Given the description of an element on the screen output the (x, y) to click on. 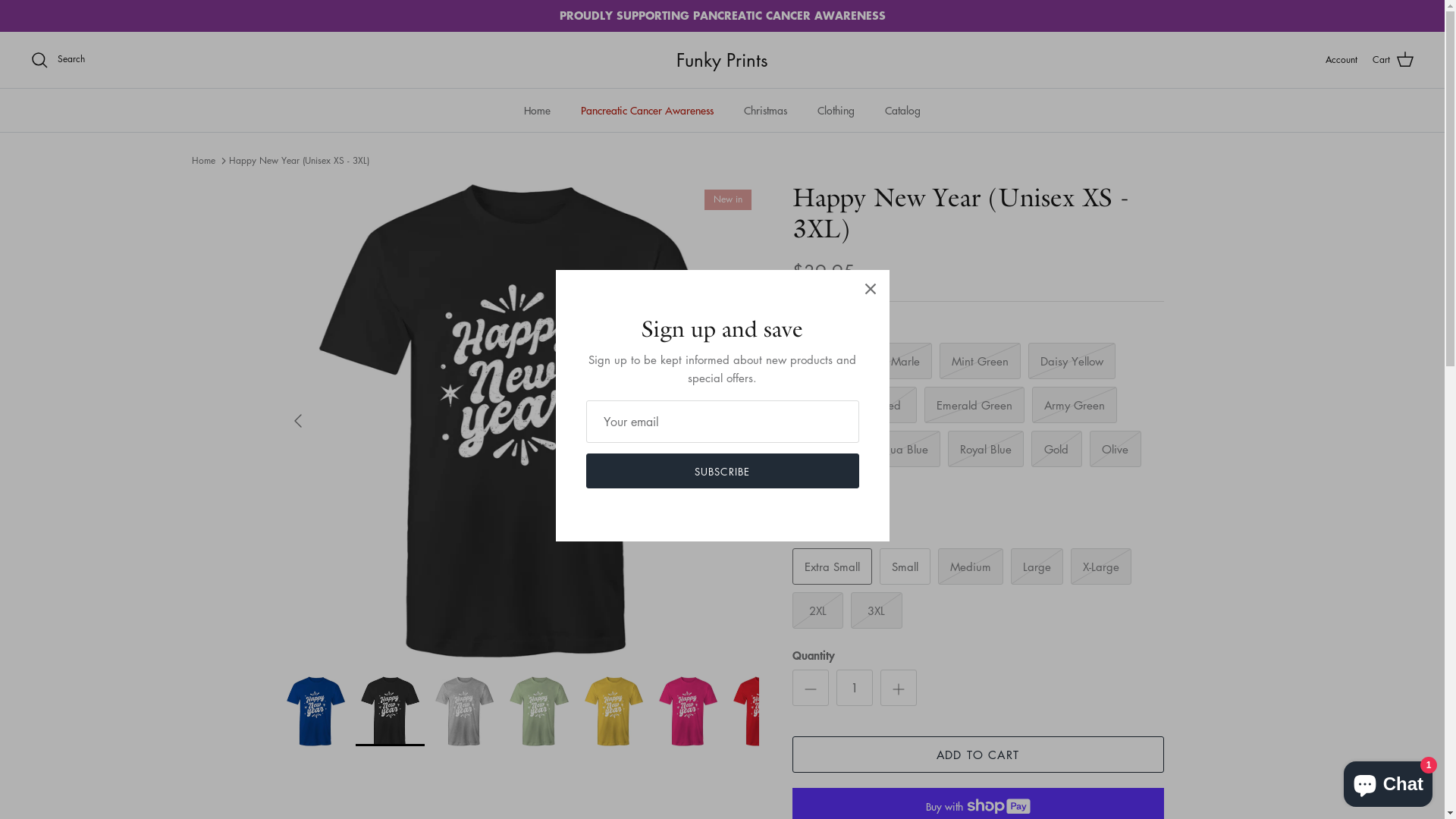
Search Element type: text (57, 59)
Happy New Year (Unisex XS - 3XL) Element type: text (299, 159)
Christmas Element type: text (765, 109)
Home Element type: text (537, 109)
Plus Element type: text (897, 687)
SUBSCRIBE Element type: text (721, 470)
Funky Prints Element type: text (722, 59)
RIGHT Element type: text (741, 420)
Pancreatic Cancer Awareness Element type: text (647, 109)
Clothing Element type: text (835, 109)
Home Element type: text (202, 159)
LEFT Element type: text (296, 420)
Account Element type: text (1341, 59)
Minus Element type: text (809, 687)
ADD TO CART Element type: text (977, 754)
Cart Element type: text (1393, 59)
Catalog Element type: text (902, 109)
Shopify online store chat Element type: hover (1388, 780)
